Given the description of an element on the screen output the (x, y) to click on. 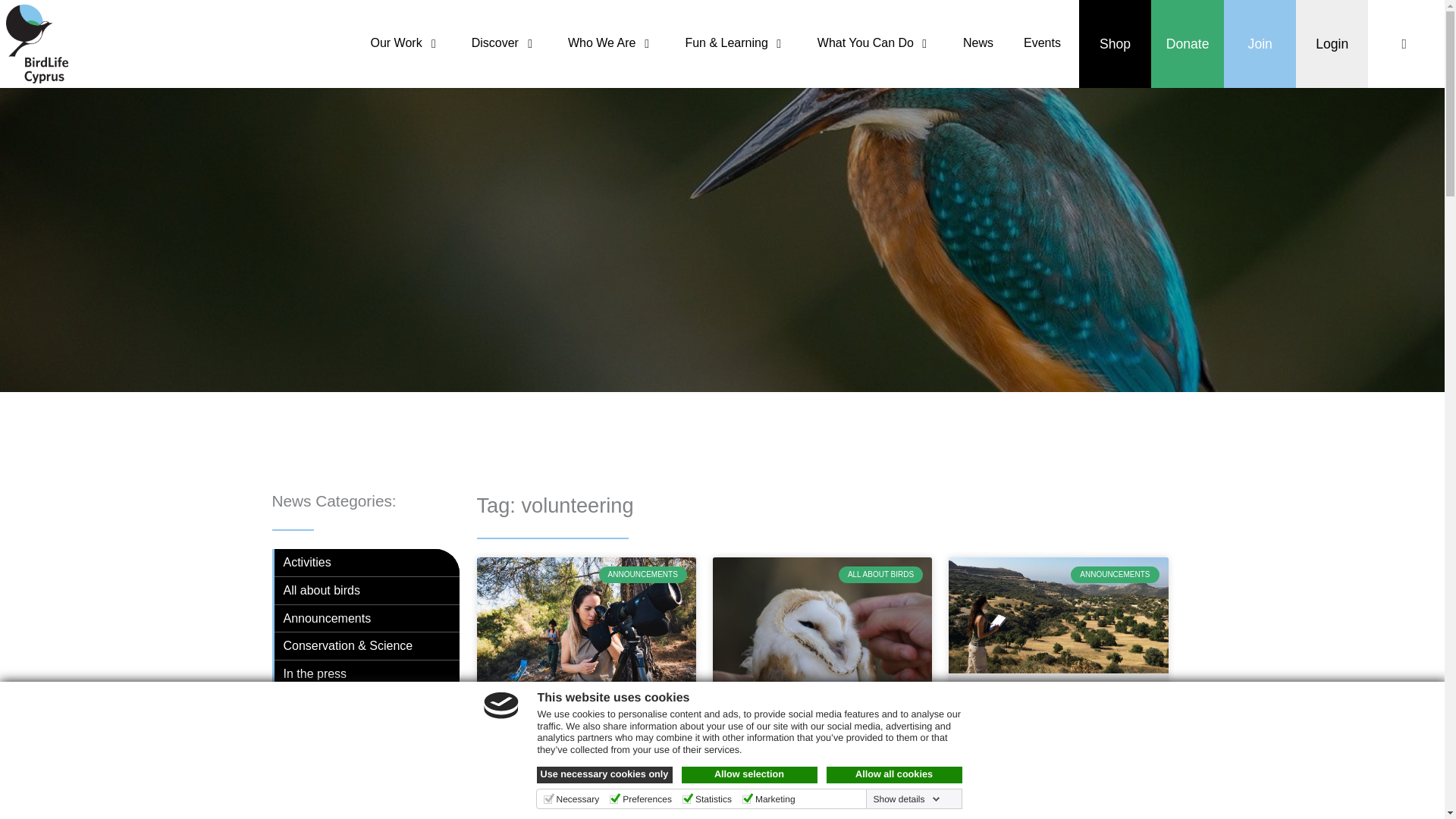
Allow all cookies (894, 774)
Allow selection (748, 774)
Use necessary cookies only (604, 774)
Show details (905, 799)
